Given the description of an element on the screen output the (x, y) to click on. 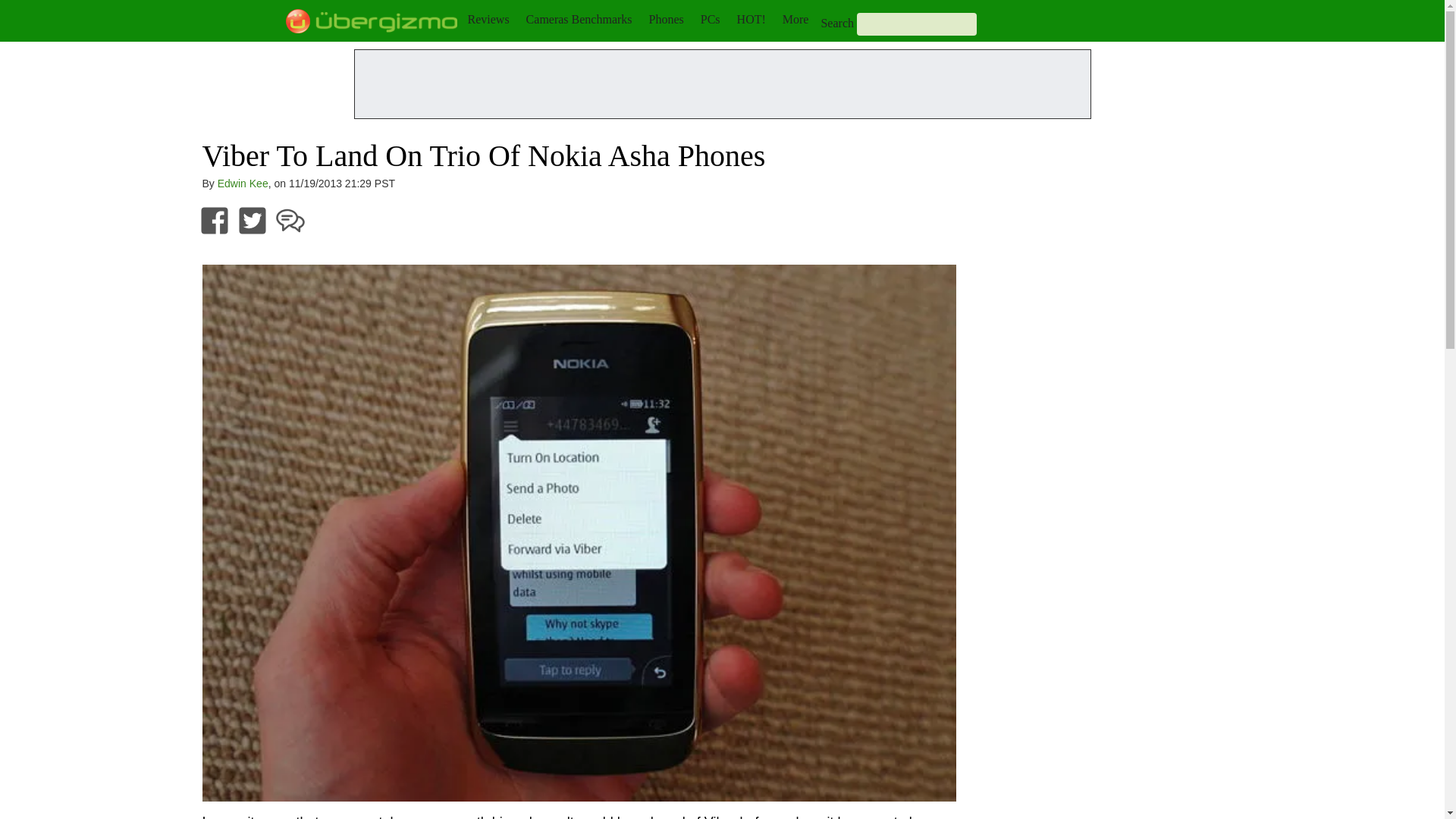
PCs (710, 19)
Cameras Benchmarks (578, 19)
Reviews (487, 19)
Phones (666, 19)
